Given the description of an element on the screen output the (x, y) to click on. 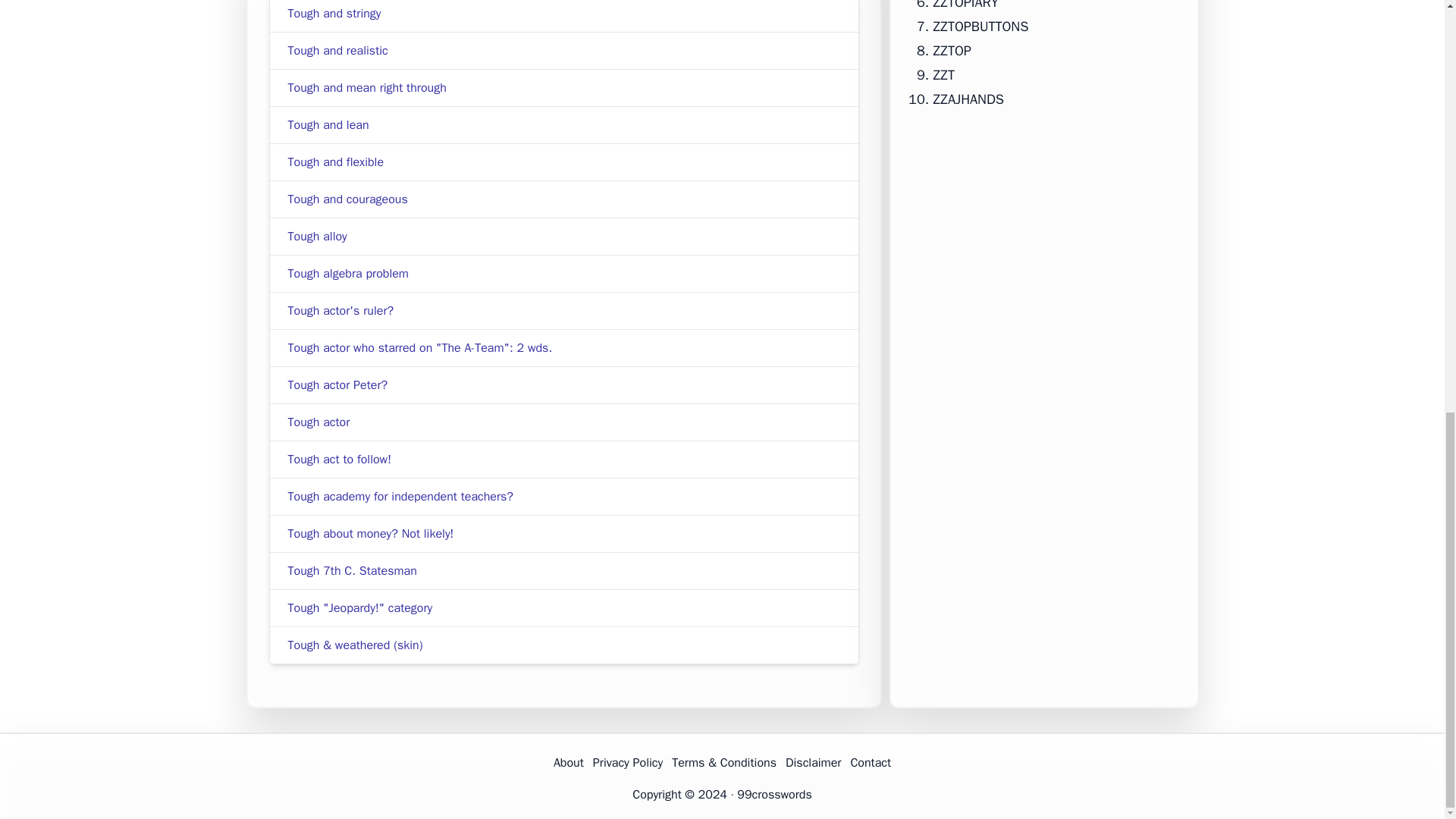
Tough alloy (317, 236)
Tough 7th C. Statesman (352, 570)
Tough and lean (328, 124)
Tough and flexible (336, 161)
Tough actor Peter? (338, 385)
Tough act to follow! (339, 459)
Tough and courageous (347, 199)
Tough and stringy (334, 13)
Tough actor's ruler? (341, 310)
Tough and mean right through (367, 87)
